Given the description of an element on the screen output the (x, y) to click on. 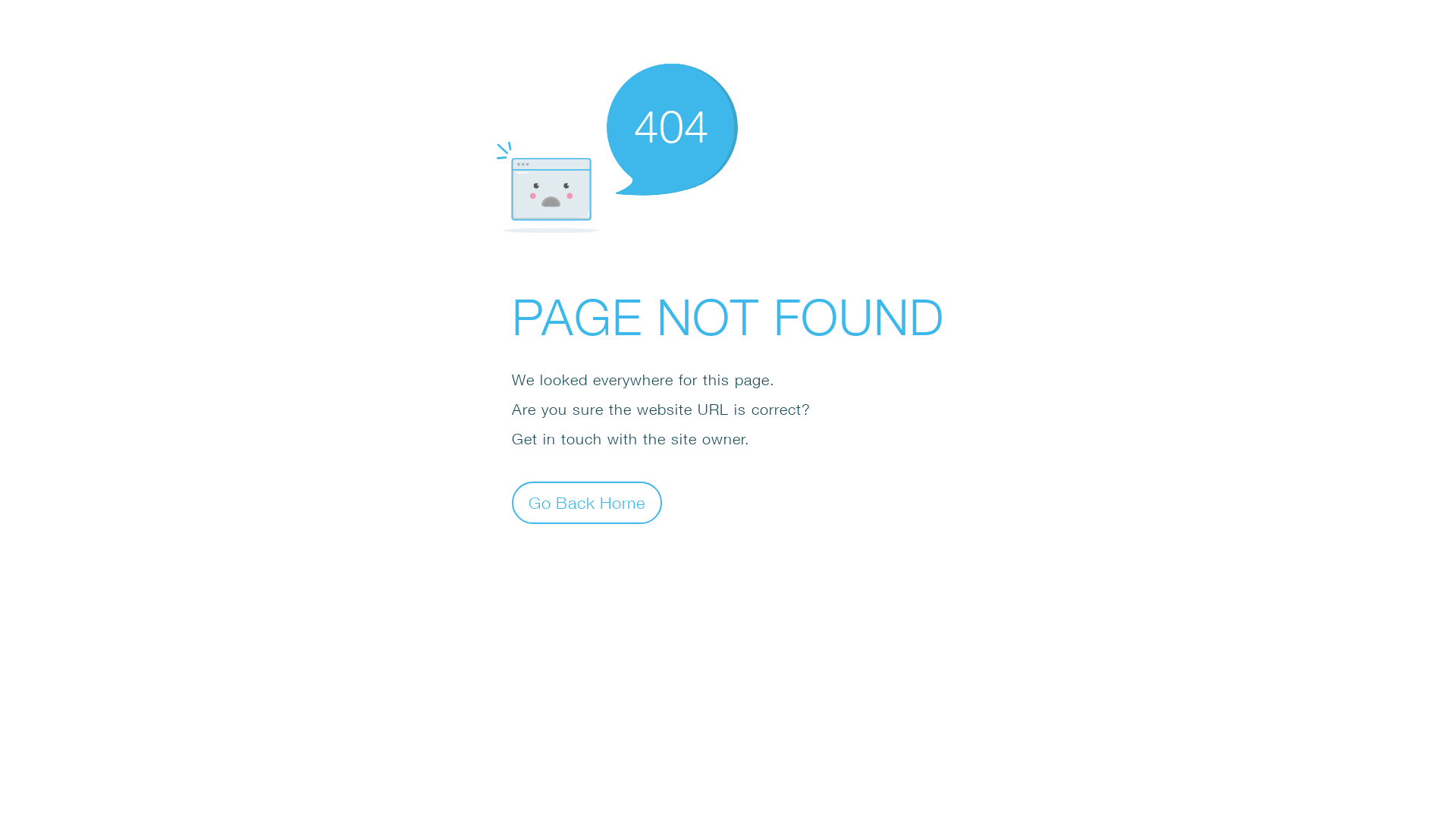
Go Back Home Element type: text (586, 502)
